Given the description of an element on the screen output the (x, y) to click on. 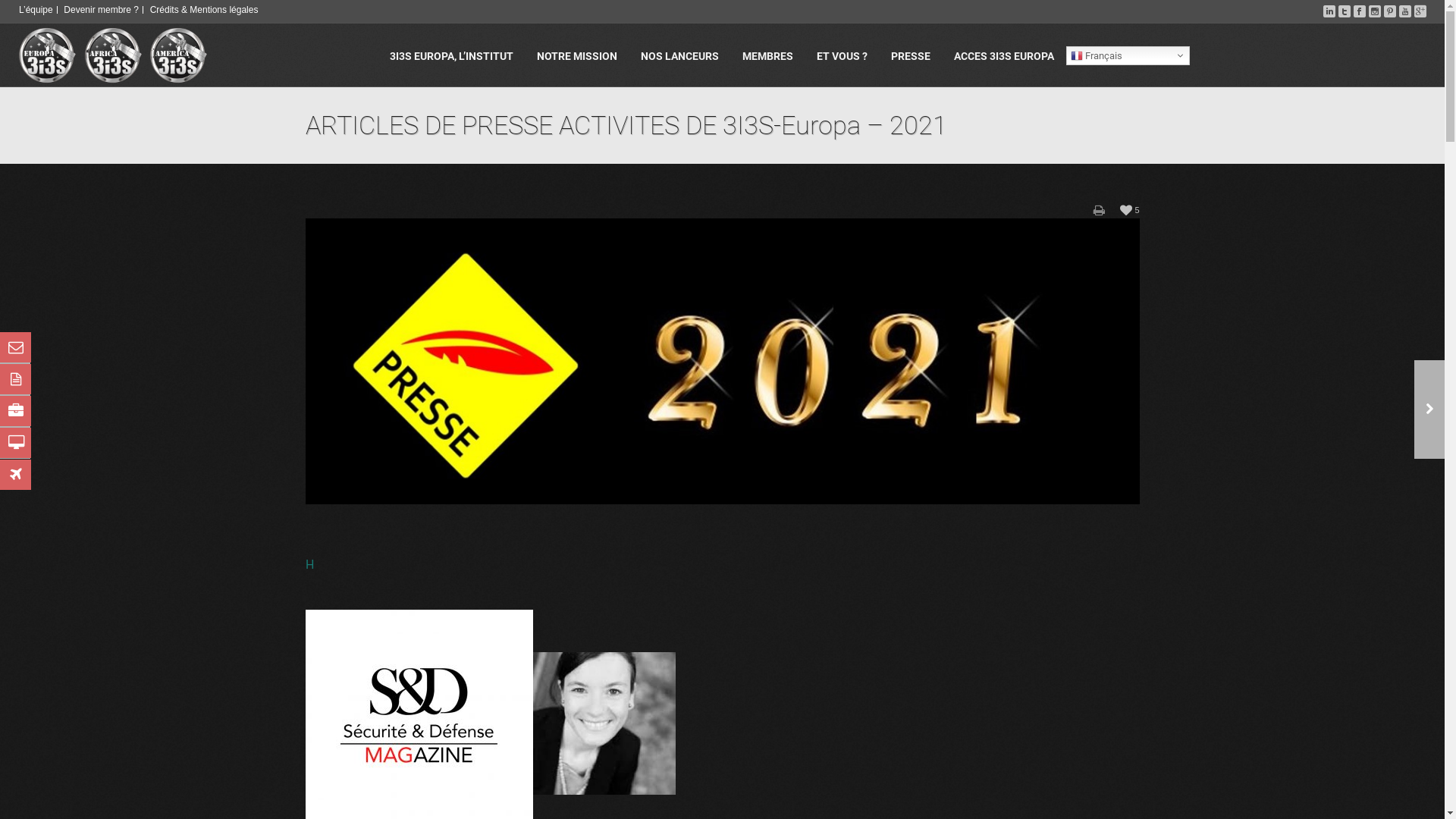
3i3s Element type: hover (112, 54)
NOTRE MISSION Element type: text (575, 54)
MEMBRES Element type: text (767, 54)
PRESSE Element type: text (910, 54)
ET VOUS ? Element type: text (841, 54)
ACCES 3I3S EUROPA Element type: text (1002, 54)
3i3s Element type: hover (177, 54)
NOS LANCEURS Element type: text (679, 54)
5 Element type: text (1129, 209)
twitter Element type: hover (1344, 12)
3i3s Element type: hover (46, 54)
instagram Element type: hover (1374, 12)
Print Element type: hover (1098, 209)
pinterest Element type: hover (1389, 12)
googleplus Element type: hover (1420, 12)
youtube Element type: hover (1405, 12)
linkedin Element type: hover (1329, 12)
H Element type: text (308, 564)
facebook Element type: hover (1359, 12)
Devenir membre ? Element type: text (101, 9)
